Given the description of an element on the screen output the (x, y) to click on. 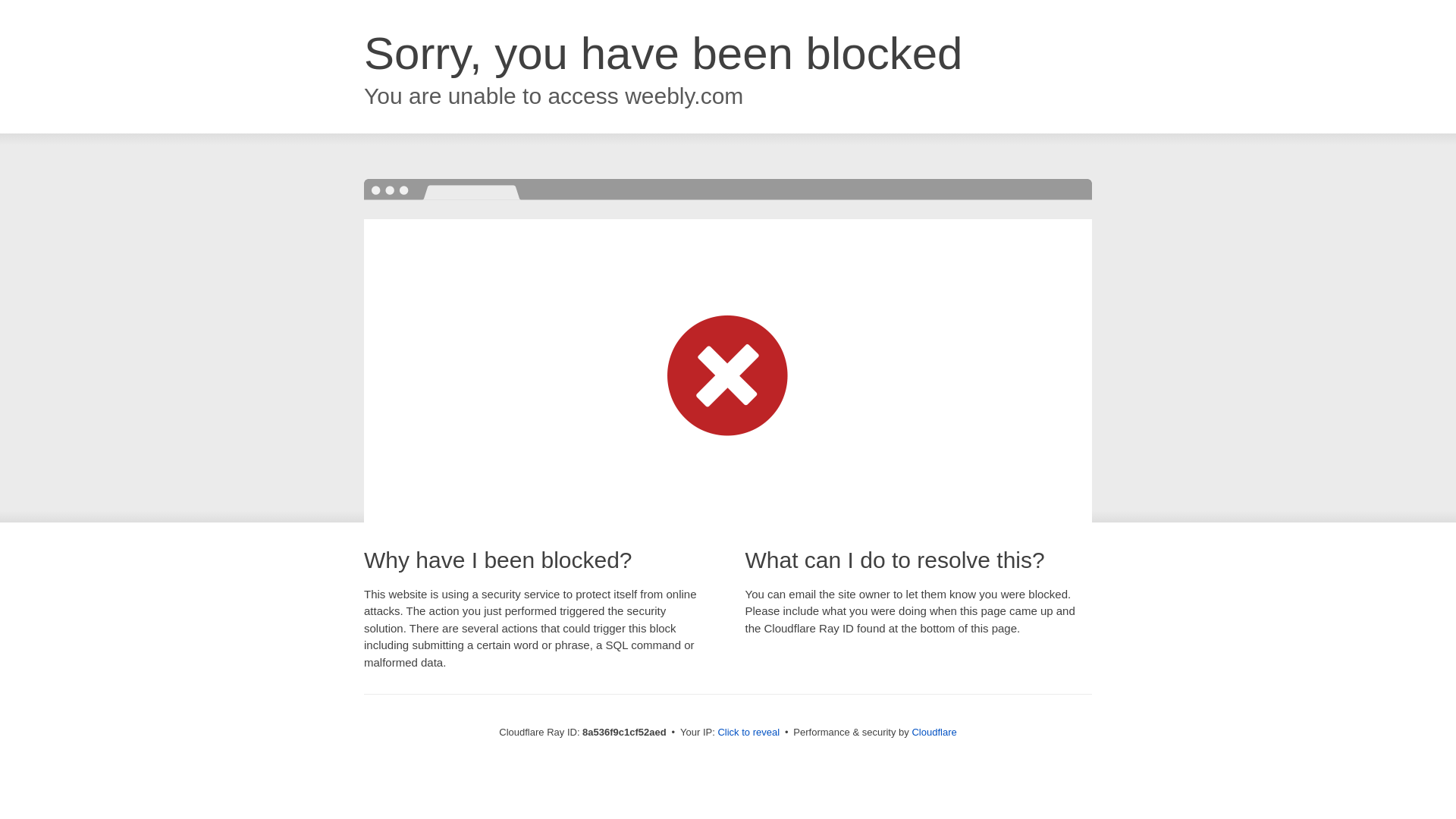
Cloudflare (933, 731)
Click to reveal (747, 732)
